Given the description of an element on the screen output the (x, y) to click on. 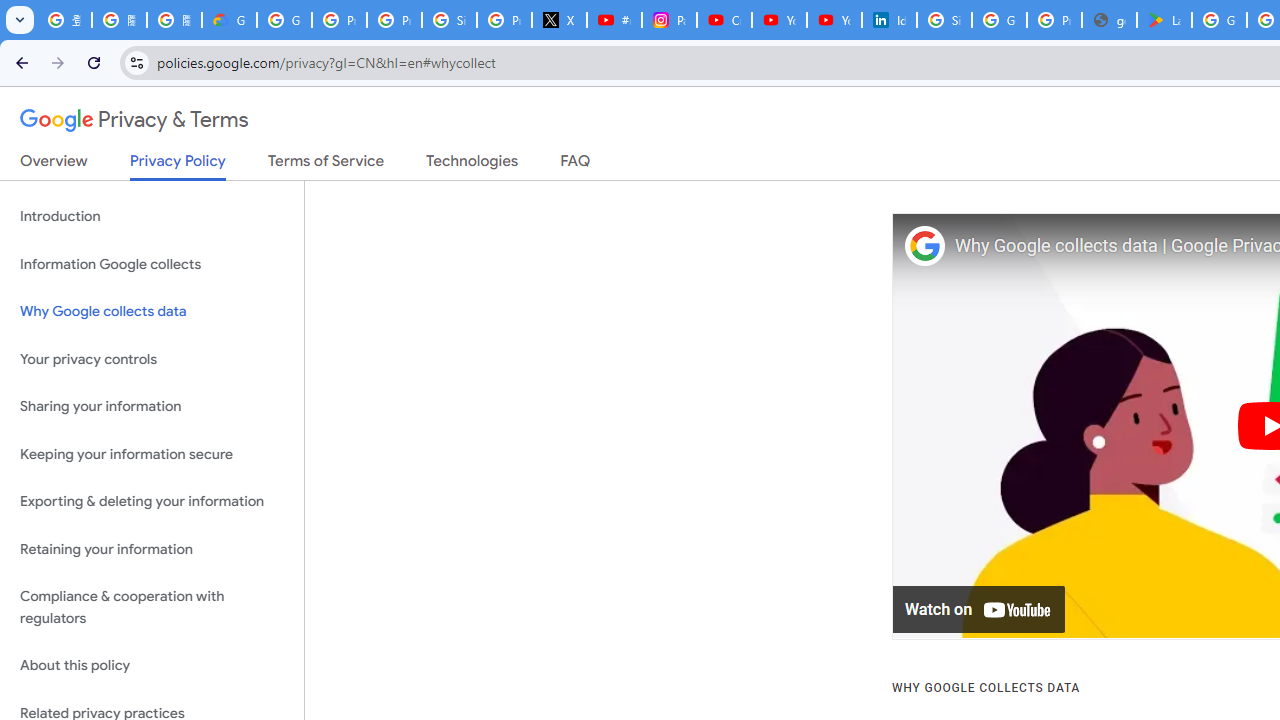
Watch on YouTube (979, 610)
Technologies (472, 165)
Exporting & deleting your information (152, 502)
Privacy Help Center - Policies Help (394, 20)
Google Cloud Privacy Notice (229, 20)
YouTube Culture & Trends - YouTube Top 10, 2021 (833, 20)
Privacy & Terms (134, 120)
Sign in - Google Accounts (943, 20)
